Given the description of an element on the screen output the (x, y) to click on. 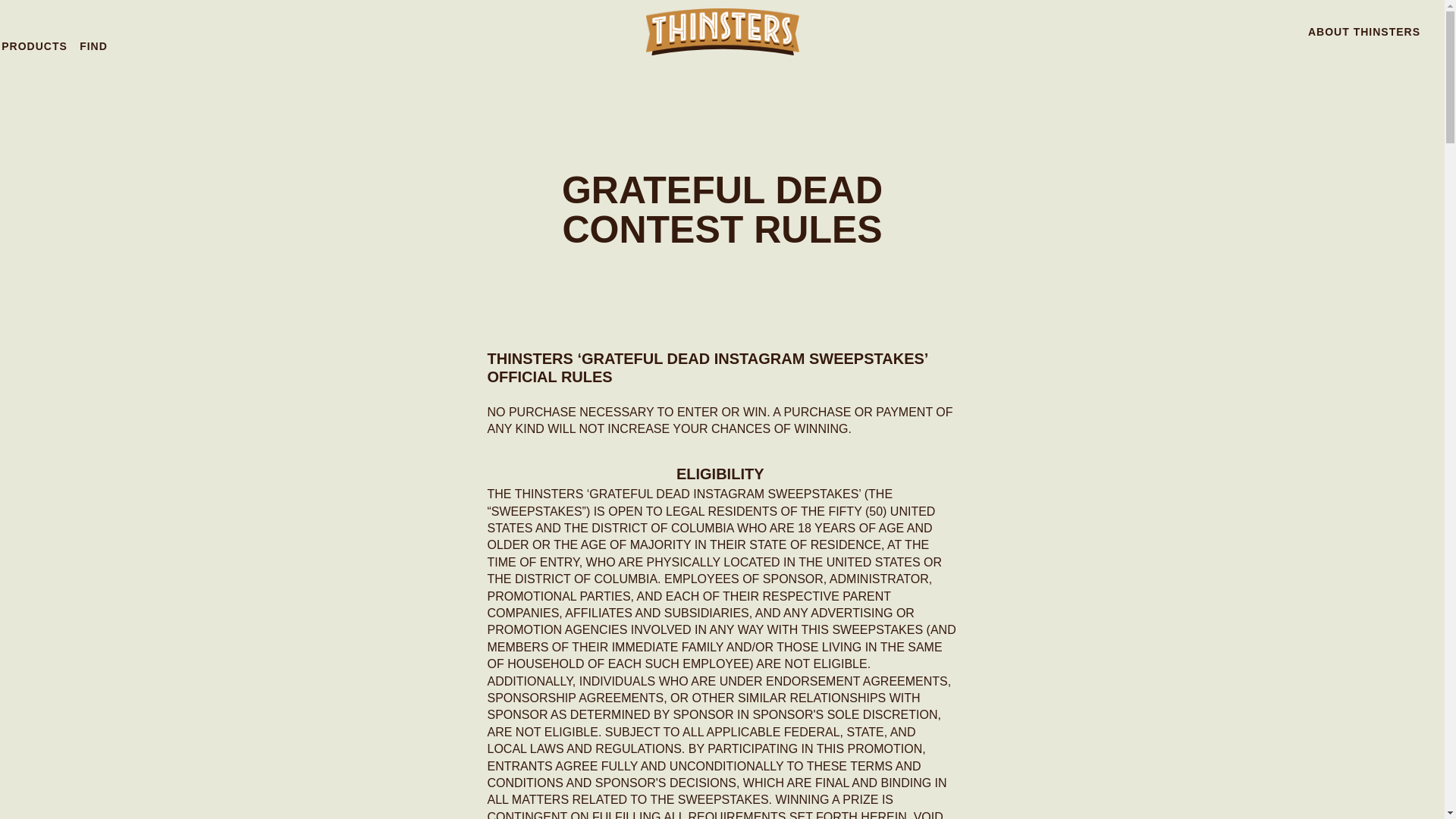
ABOUT THINSTERS (1364, 31)
